Given the description of an element on the screen output the (x, y) to click on. 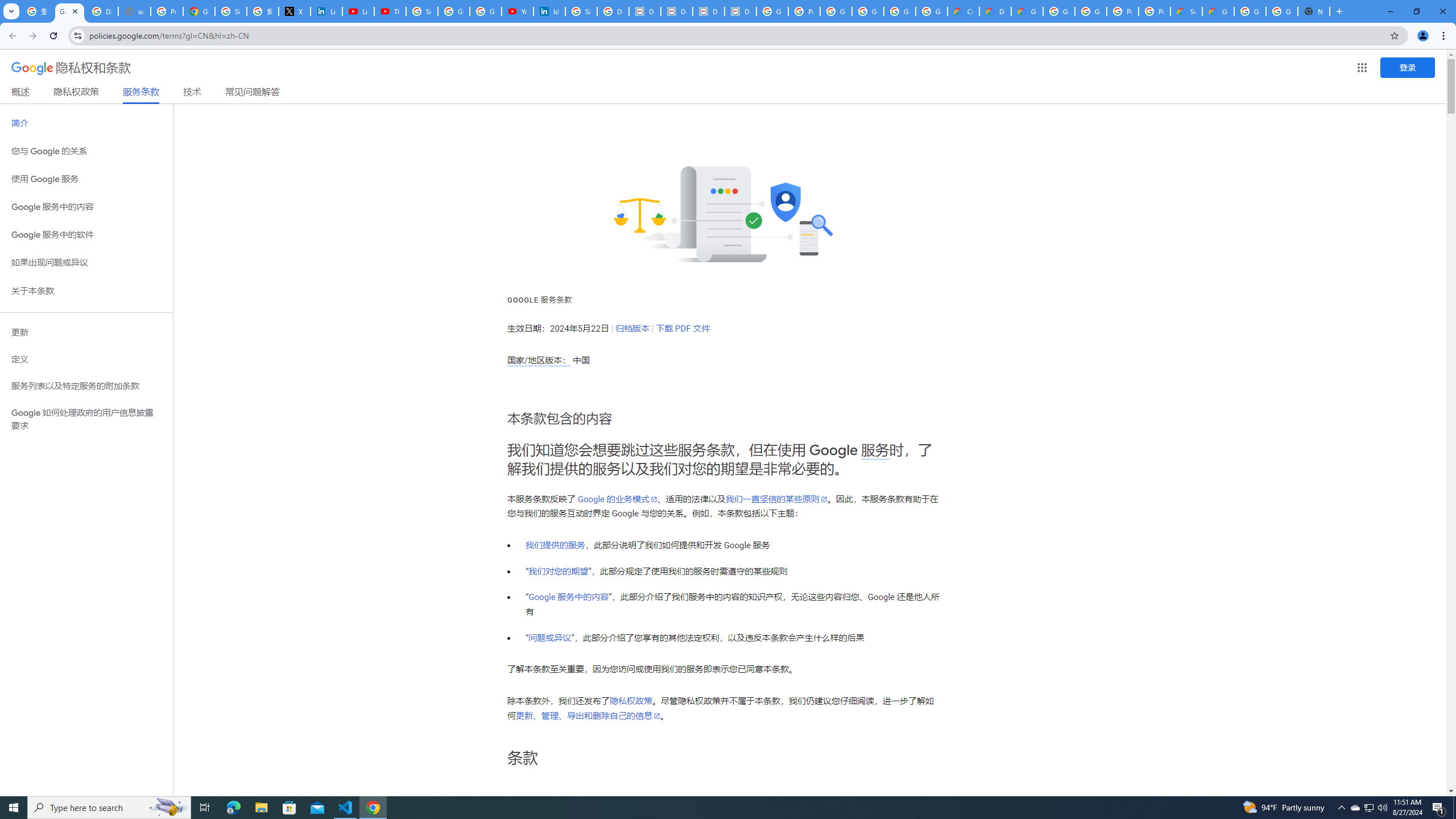
LinkedIn Privacy Policy (326, 11)
support.google.com - Network error (134, 11)
LinkedIn - YouTube (358, 11)
Google Workspace - Specific Terms (899, 11)
New Tab (1313, 11)
Data Privacy Framework (644, 11)
